Given the description of an element on the screen output the (x, y) to click on. 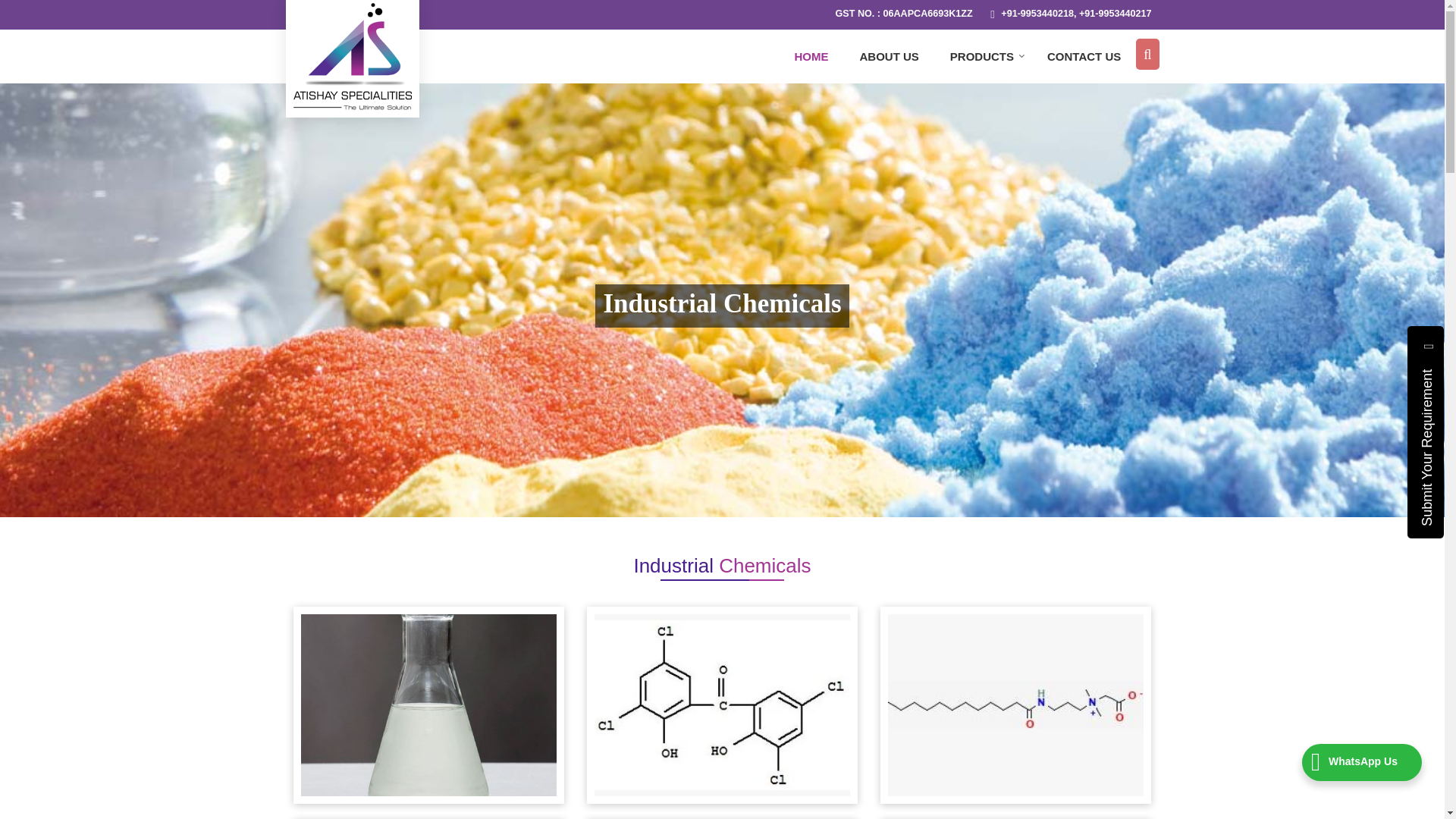
Products (982, 56)
Atishay Specialities Pvt. Ltd. (351, 56)
PRODUCTS (982, 56)
About Us (888, 56)
ABOUT US (888, 56)
Home (810, 56)
HOME (810, 56)
